Given the description of an element on the screen output the (x, y) to click on. 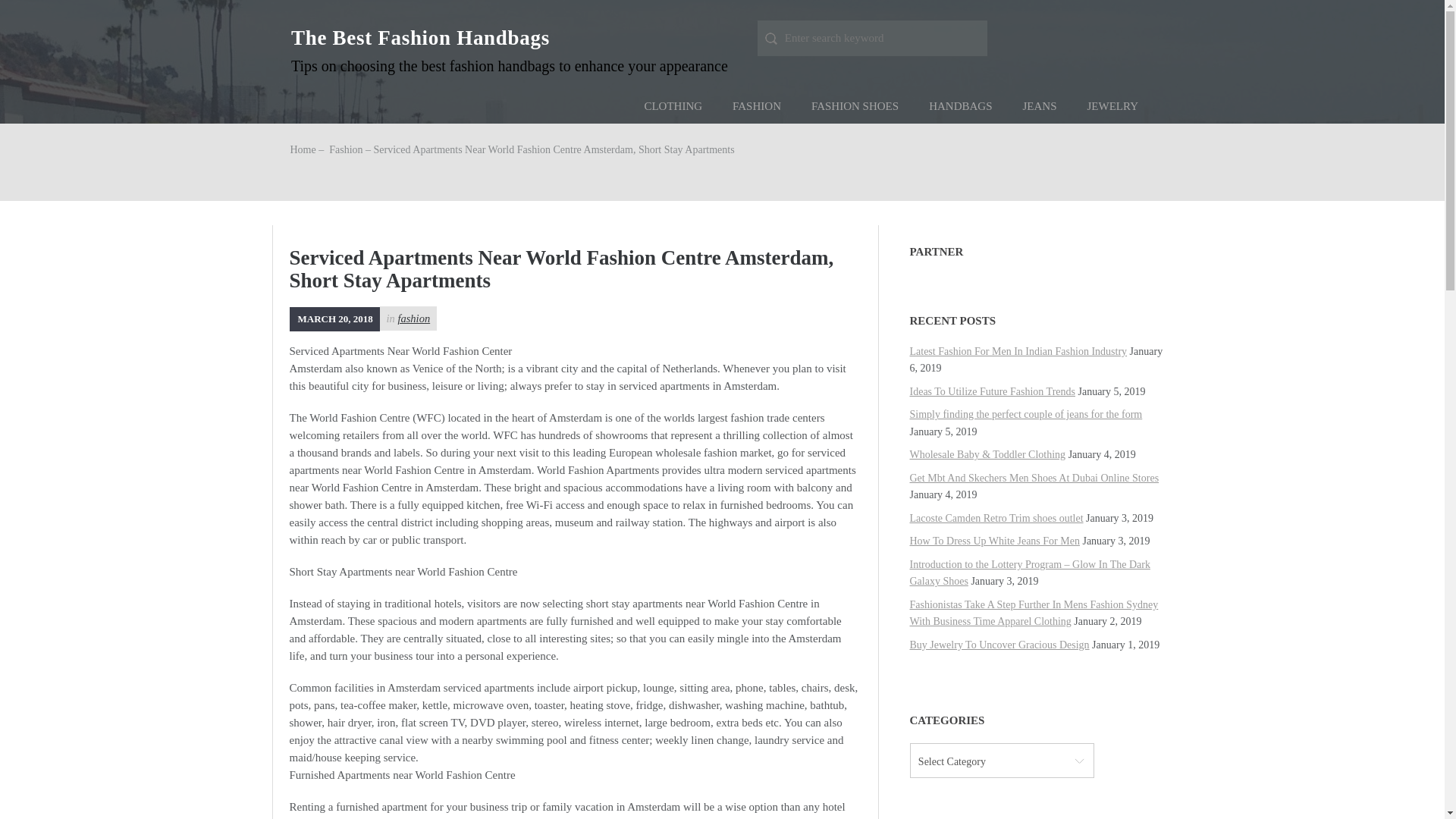
Ideas To Utilize Future Fashion Trends (992, 391)
JEANS (1039, 106)
HANDBAGS (960, 106)
FASHION SHOES (855, 106)
Latest Fashion For Men In Indian Fashion Industry (1018, 351)
Lacoste Camden Retro Trim shoes outlet (996, 518)
JEWELRY (1112, 106)
The Best Fashion Handbags (420, 37)
fashion (413, 318)
Get Mbt And Skechers Men Shoes At Dubai Online Stores (1034, 478)
Fashion (345, 149)
Simply finding the perfect couple of jeans for the form (1026, 414)
Buy Jewelry To Uncover Gracious Design (999, 644)
